Given the description of an element on the screen output the (x, y) to click on. 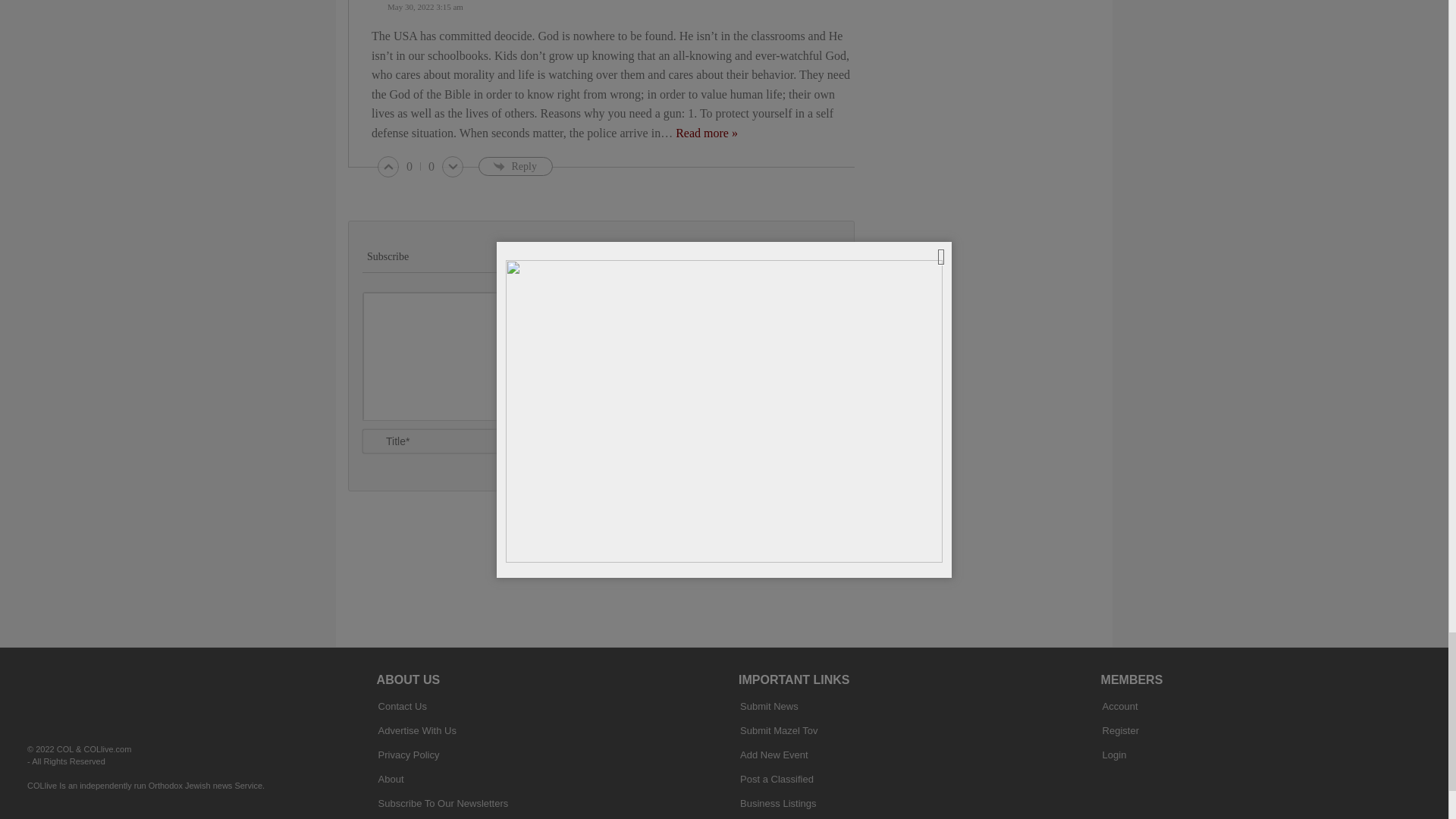
0 (431, 166)
Post Comment (783, 451)
0 (409, 166)
May 30, 2022 3:15 am (617, 7)
